Given the description of an element on the screen output the (x, y) to click on. 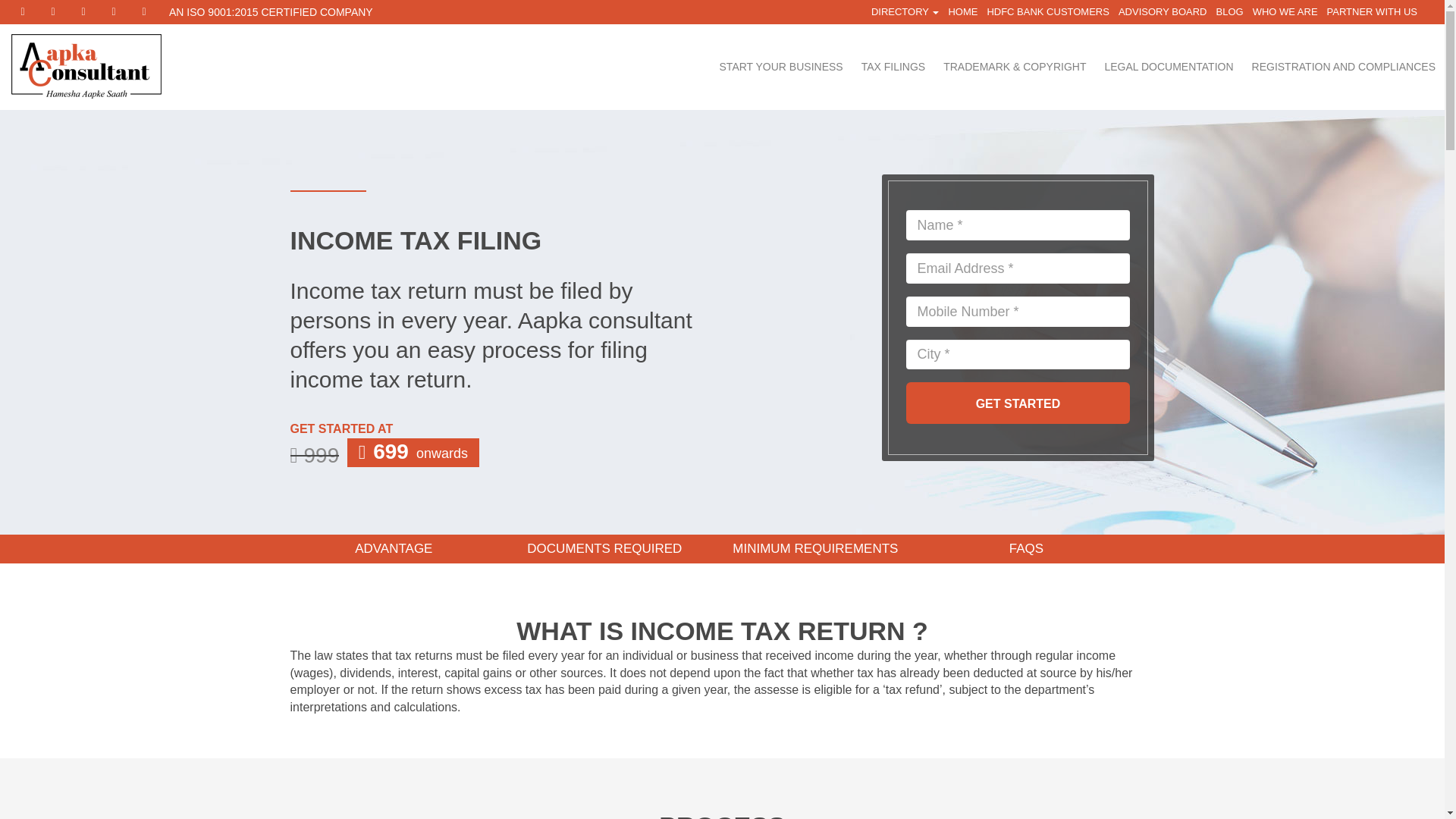
START YOUR BUSINESS (780, 66)
DIRECTORY (904, 12)
PARTNER WITH US (1372, 12)
HDFC BANK CUSTOMERS (1047, 12)
ADVISORY BOARD (1162, 12)
TAX FILINGS (892, 66)
HOME (962, 12)
BLOG (1229, 12)
WHO WE ARE (1284, 12)
